Given the description of an element on the screen output the (x, y) to click on. 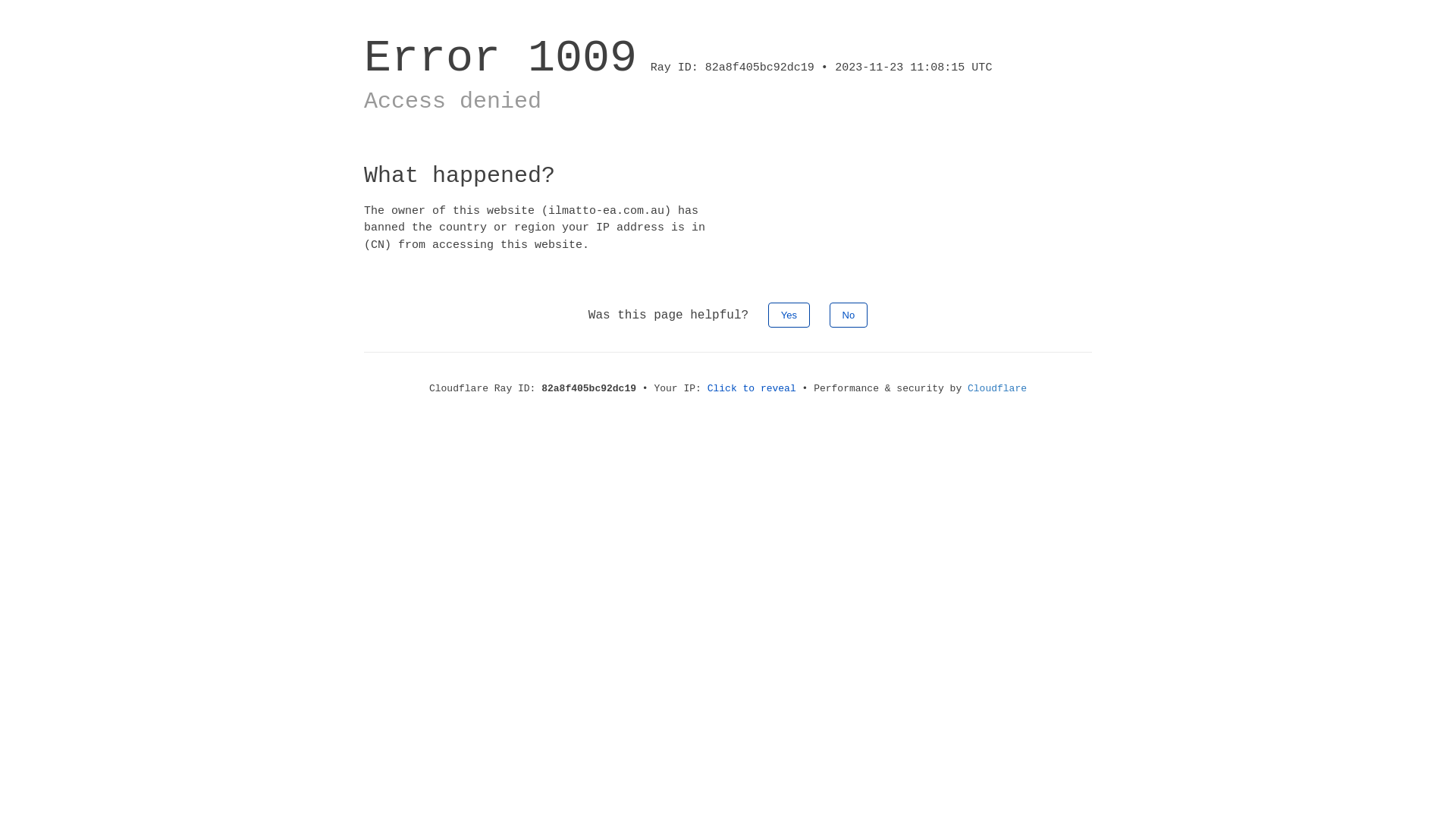
Click to reveal Element type: text (751, 388)
Cloudflare Element type: text (996, 388)
No Element type: text (848, 314)
Yes Element type: text (788, 314)
